Given the description of an element on the screen output the (x, y) to click on. 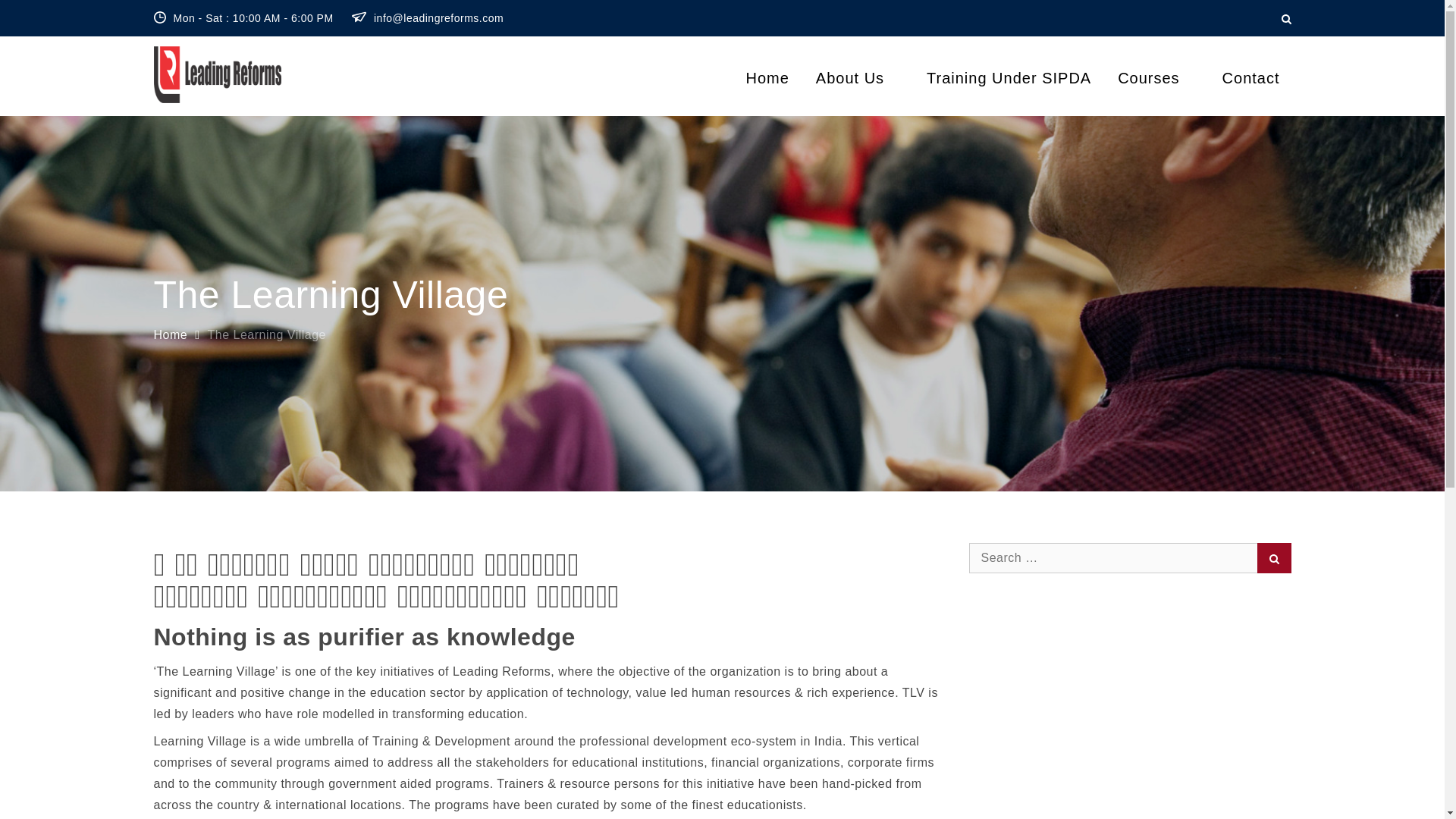
Contact (1251, 78)
LeadingReforms (382, 83)
About Us (858, 78)
Home (169, 334)
Training Under SIPDA (1008, 78)
Courses (1156, 78)
Search (1274, 557)
